Given the description of an element on the screen output the (x, y) to click on. 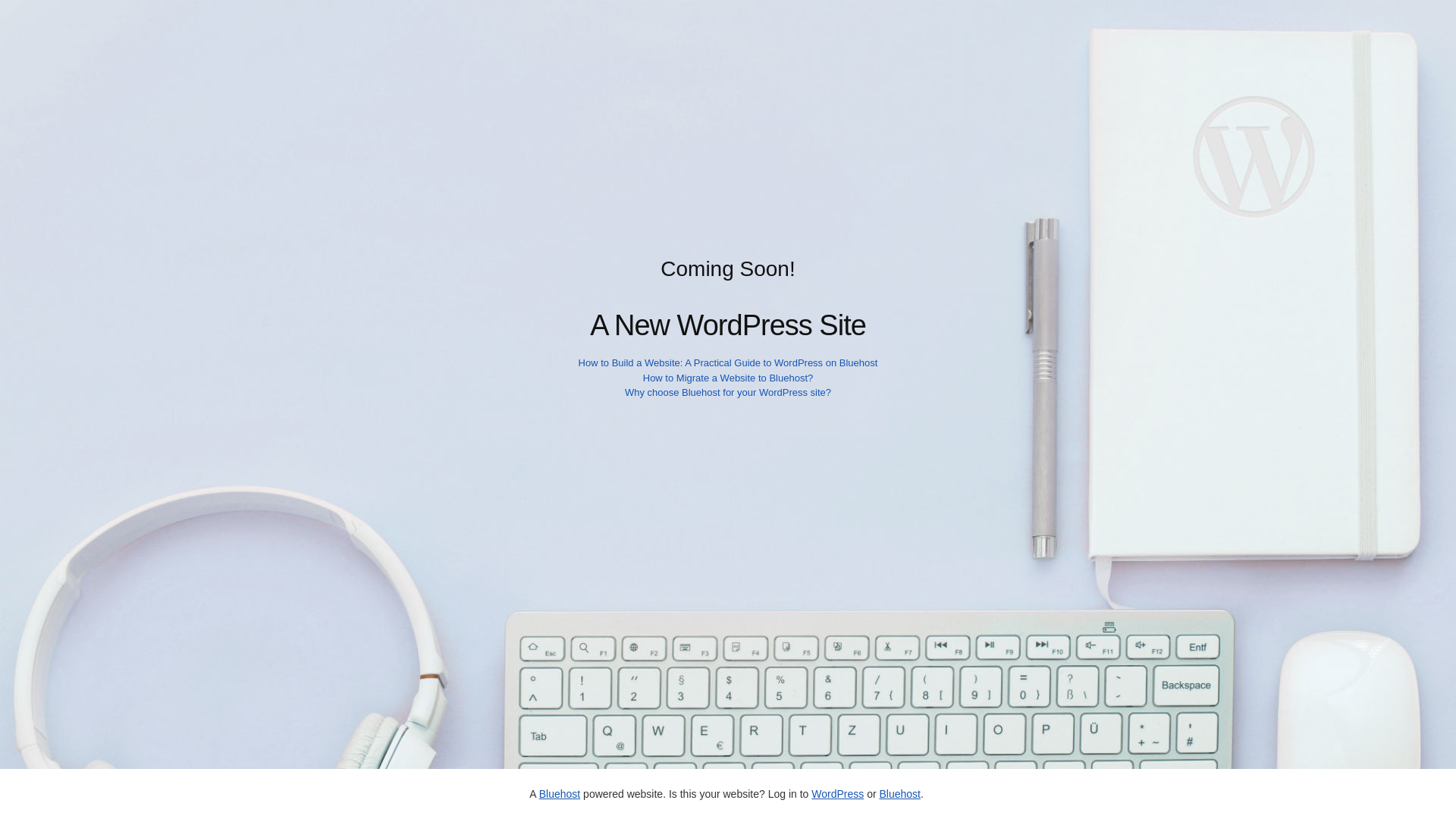
Why choose Bluehost for your WordPress site? (727, 392)
Bluehost (899, 793)
Bluehost (558, 793)
WordPress (836, 793)
How to Migrate a Website to Bluehost? (728, 378)
